Given the description of an element on the screen output the (x, y) to click on. 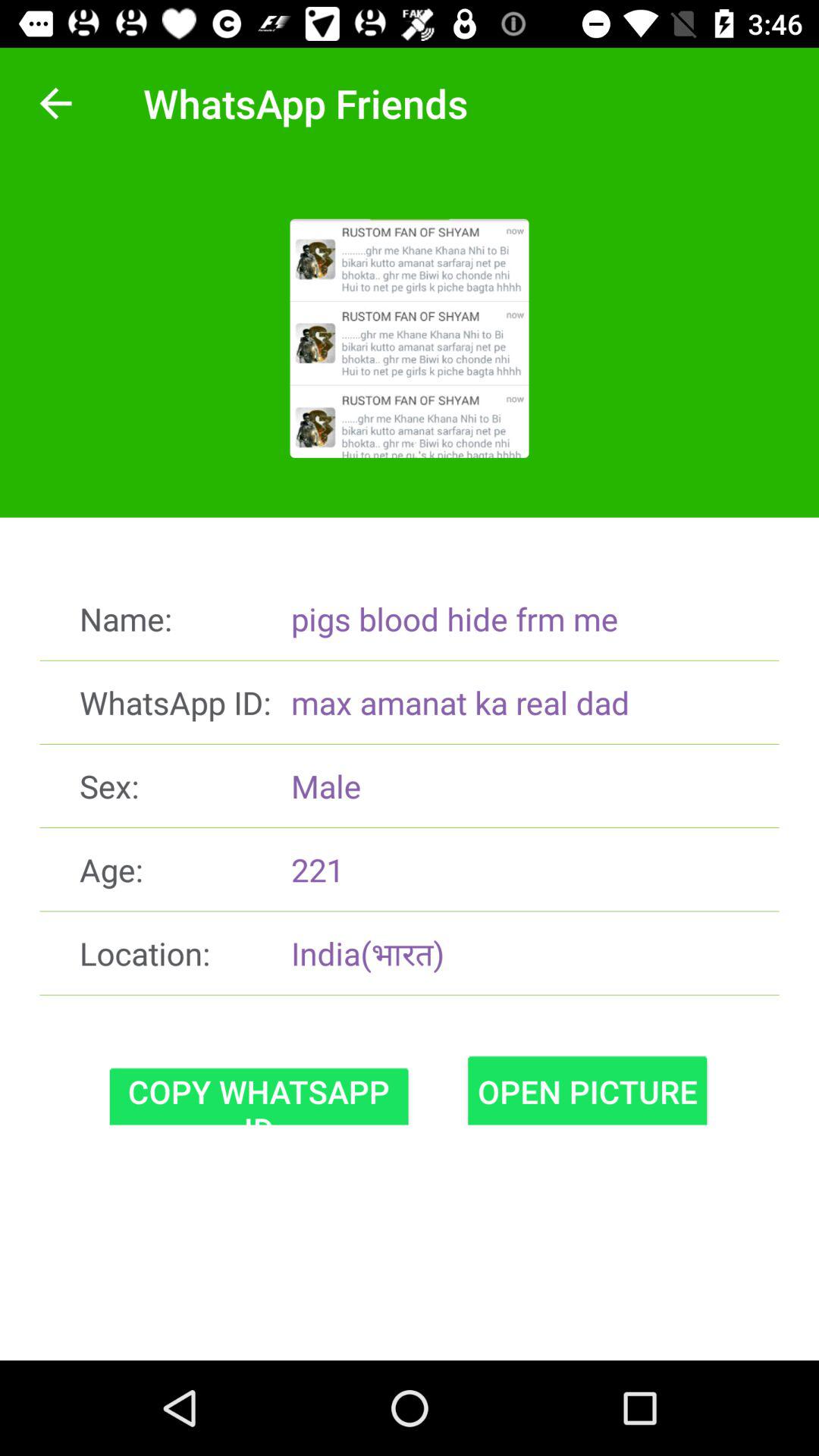
turn on the icon next to the copy whatsapp id item (587, 1089)
